Given the description of an element on the screen output the (x, y) to click on. 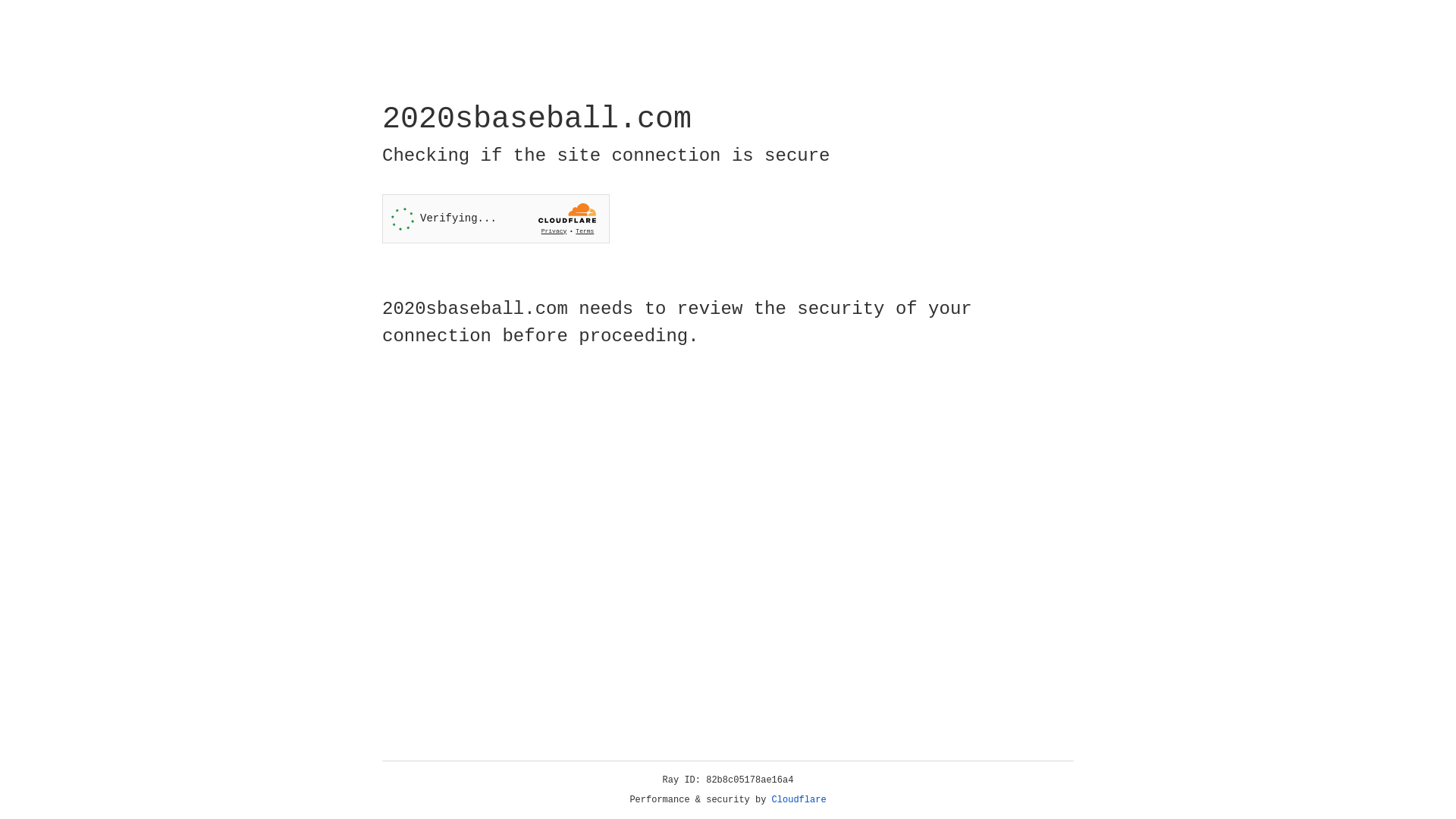
Cloudflare Element type: text (798, 799)
Widget containing a Cloudflare security challenge Element type: hover (495, 218)
